Given the description of an element on the screen output the (x, y) to click on. 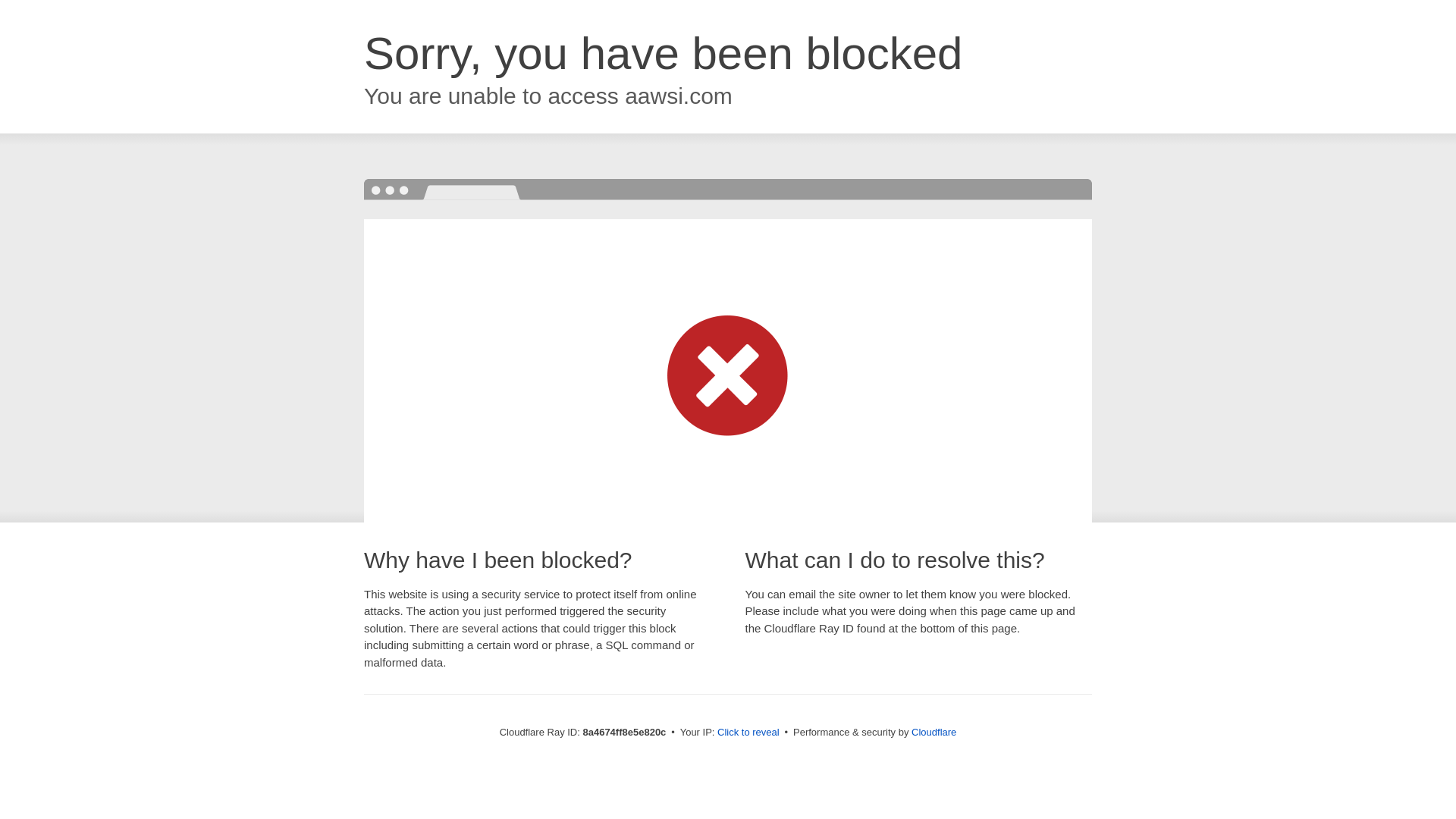
Click to reveal (747, 732)
Cloudflare (933, 731)
